Given the description of an element on the screen output the (x, y) to click on. 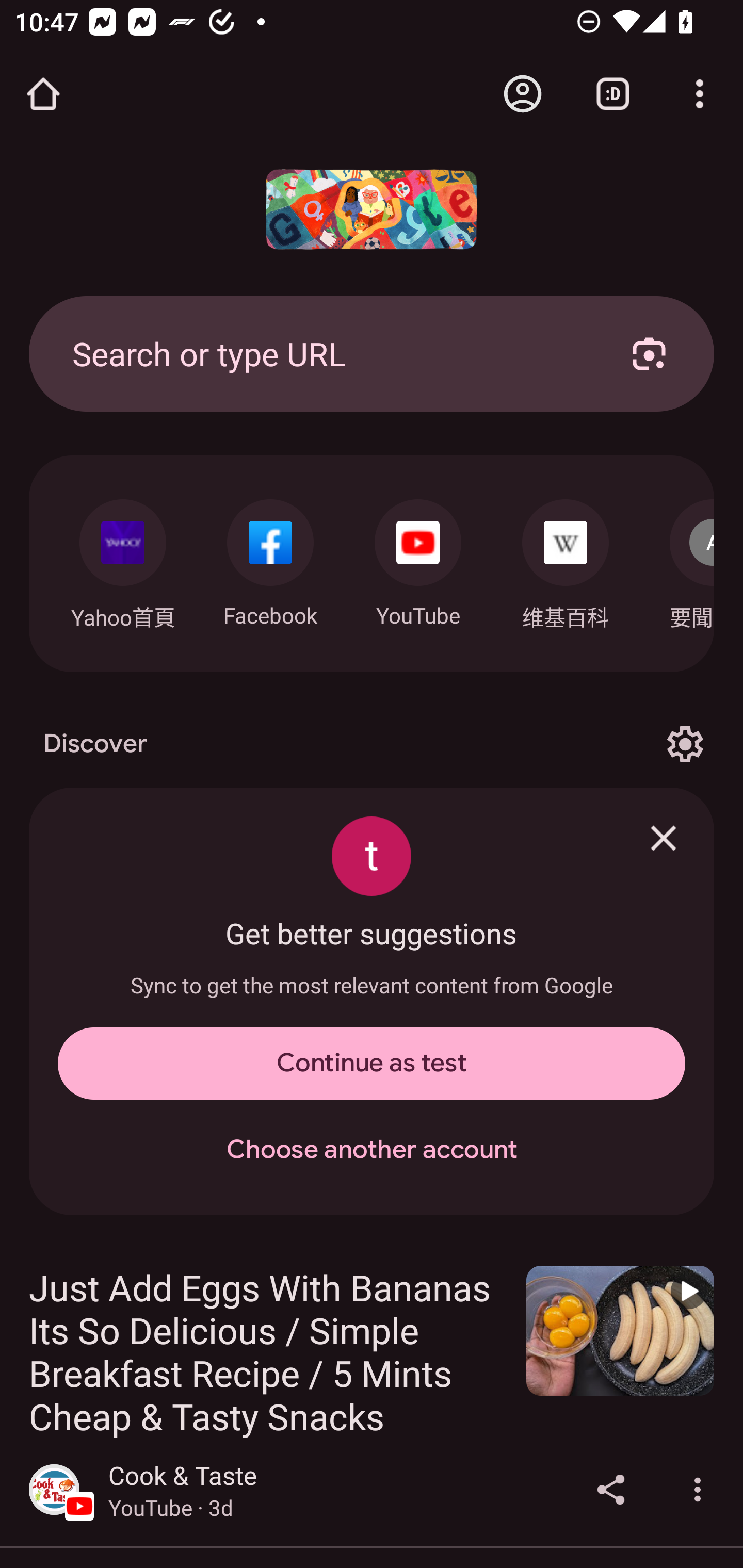
Open the home page (43, 93)
Switch or close tabs (612, 93)
Customize and control Google Chrome (699, 93)
Google doodle: 2024 年國際婦女節 (371, 209)
Search or type URL (327, 353)
Search with your camera using Google Lens (648, 353)
Navigate: Yahoo首頁: hk.mobi.yahoo.com Yahoo首頁 (122, 558)
Navigate: Facebook: m.facebook.com Facebook (270, 558)
Navigate: YouTube: m.youtube.com YouTube (417, 558)
Navigate: 维基百科: zh.m.wikipedia.org 维基百科 (565, 558)
Options for Discover (684, 743)
Close (663, 837)
Continue as test (371, 1063)
Choose another account (371, 1150)
